Given the description of an element on the screen output the (x, y) to click on. 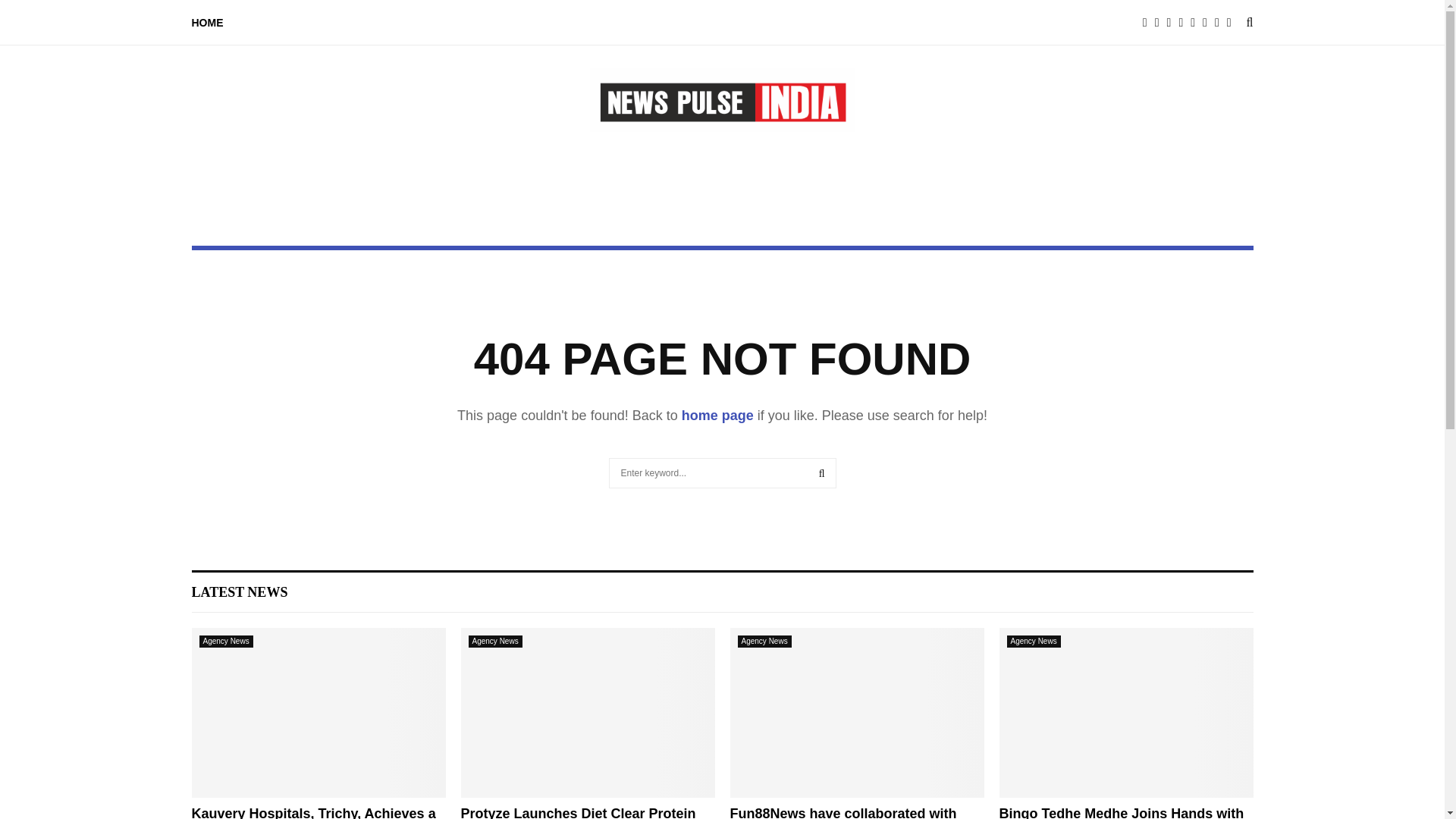
Agency News (495, 641)
View all posts in Agency News (495, 641)
Agency News (763, 641)
Behance (1196, 22)
Agency News (224, 641)
SEARCH (821, 472)
home page (717, 415)
Pinterest (1184, 22)
HOME (206, 22)
Agency News (1034, 641)
LATEST NEWS (238, 591)
